Given the description of an element on the screen output the (x, y) to click on. 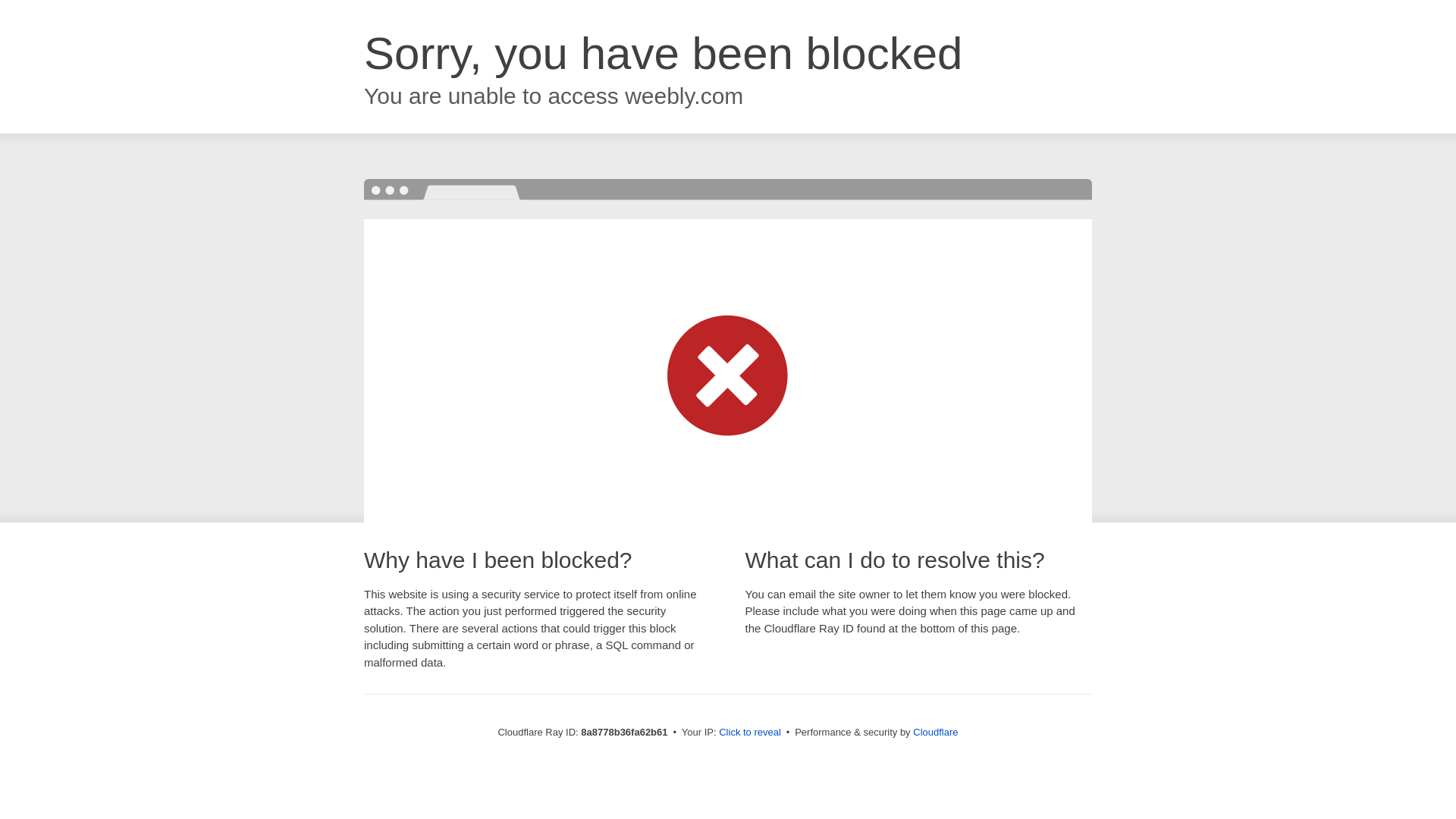
Cloudflare (935, 731)
Click to reveal (749, 732)
